Given the description of an element on the screen output the (x, y) to click on. 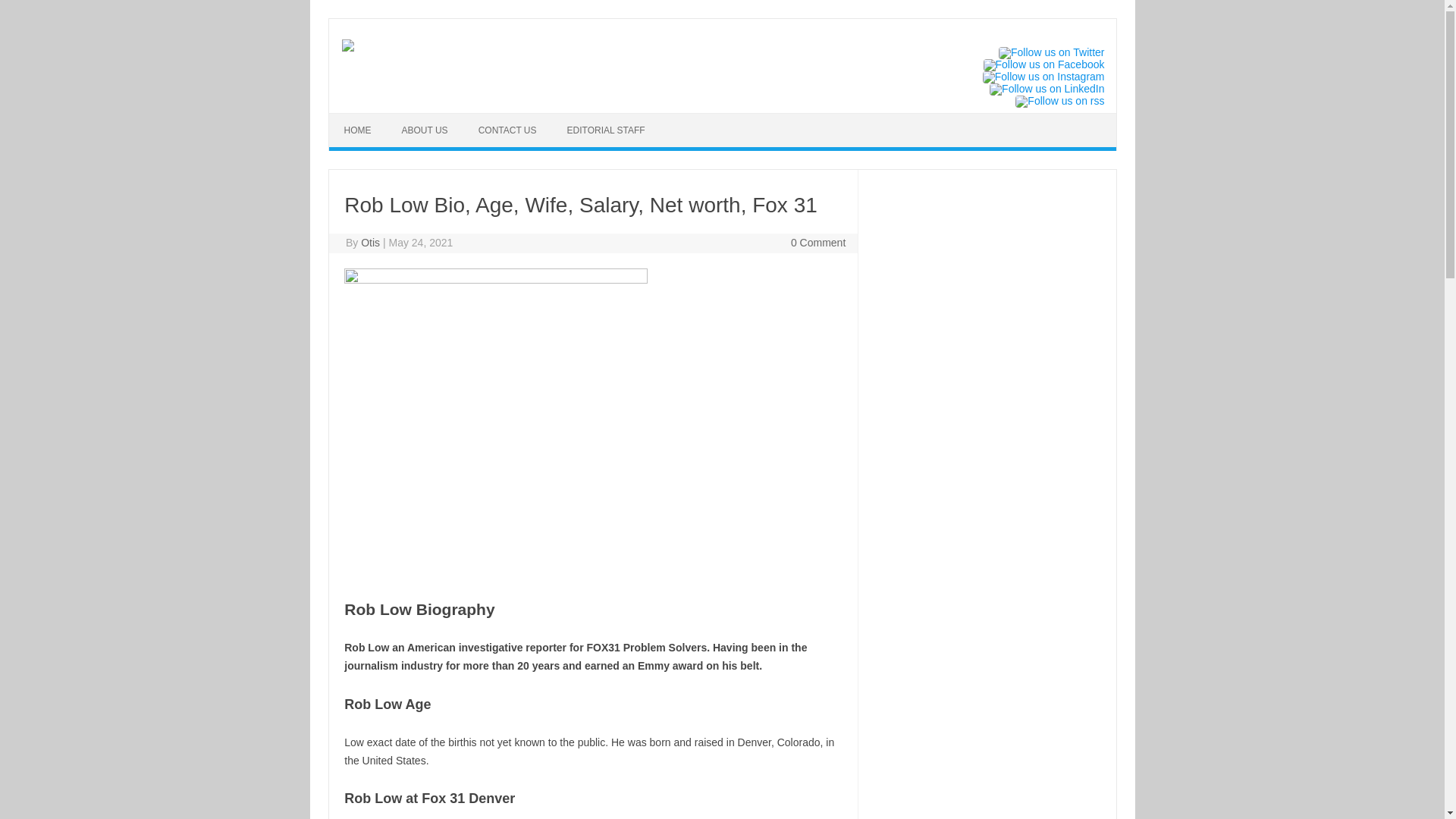
Otis (370, 242)
EDITORIAL STAFF (606, 130)
ABOUT US (425, 130)
HOME (358, 130)
Posts by Otis (370, 242)
CONTACT US (507, 130)
0 Comment (817, 242)
